Given the description of an element on the screen output the (x, y) to click on. 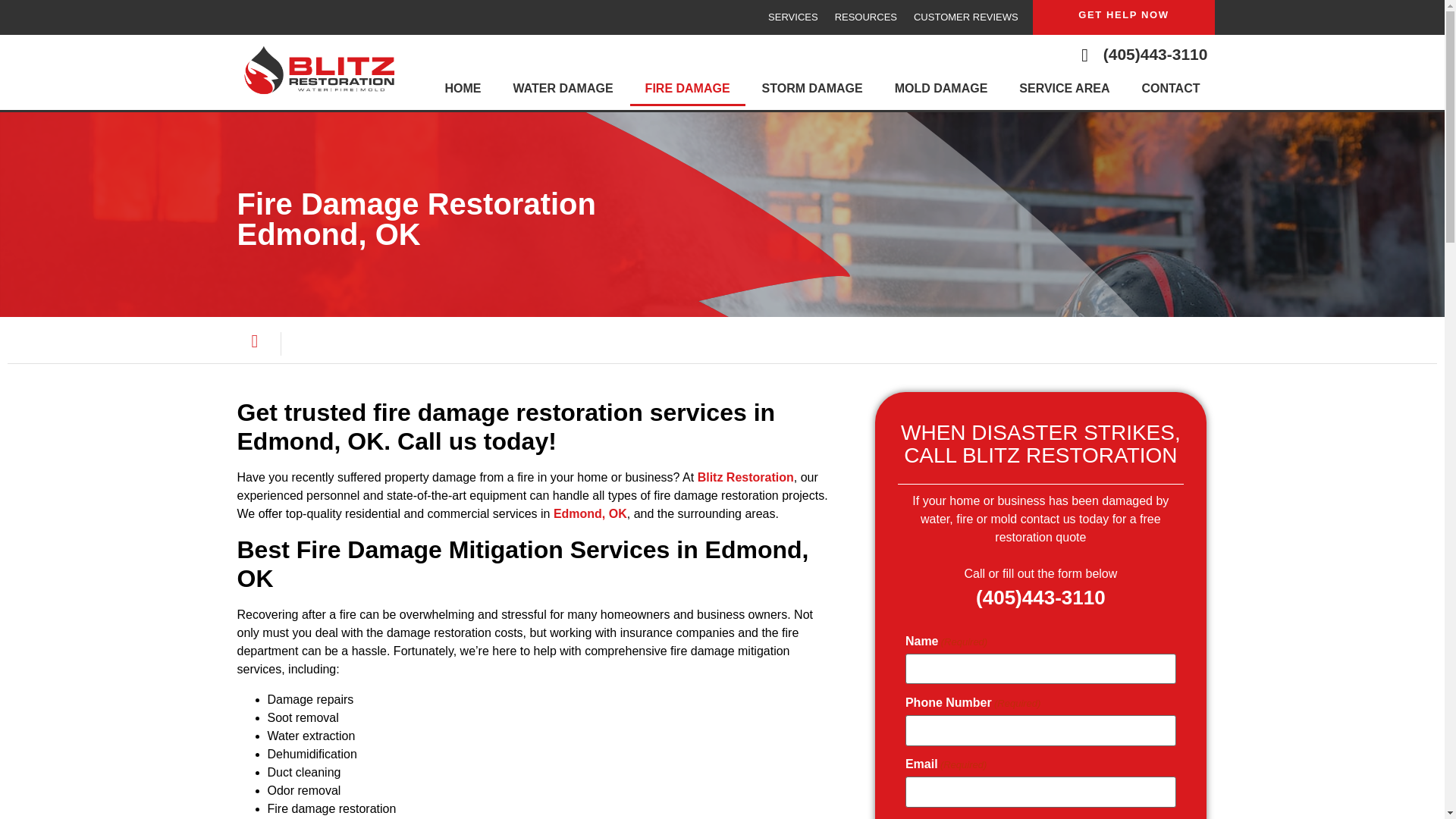
FIRE DAMAGE (687, 88)
RESOURCES (866, 17)
SERVICES (793, 17)
CUSTOMER REVIEWS (965, 17)
SERVICE AREA (1064, 88)
CONTACT (1169, 88)
HOME (462, 88)
GET HELP NOW (1123, 14)
STORM DAMAGE (811, 88)
MOLD DAMAGE (941, 88)
